Given the description of an element on the screen output the (x, y) to click on. 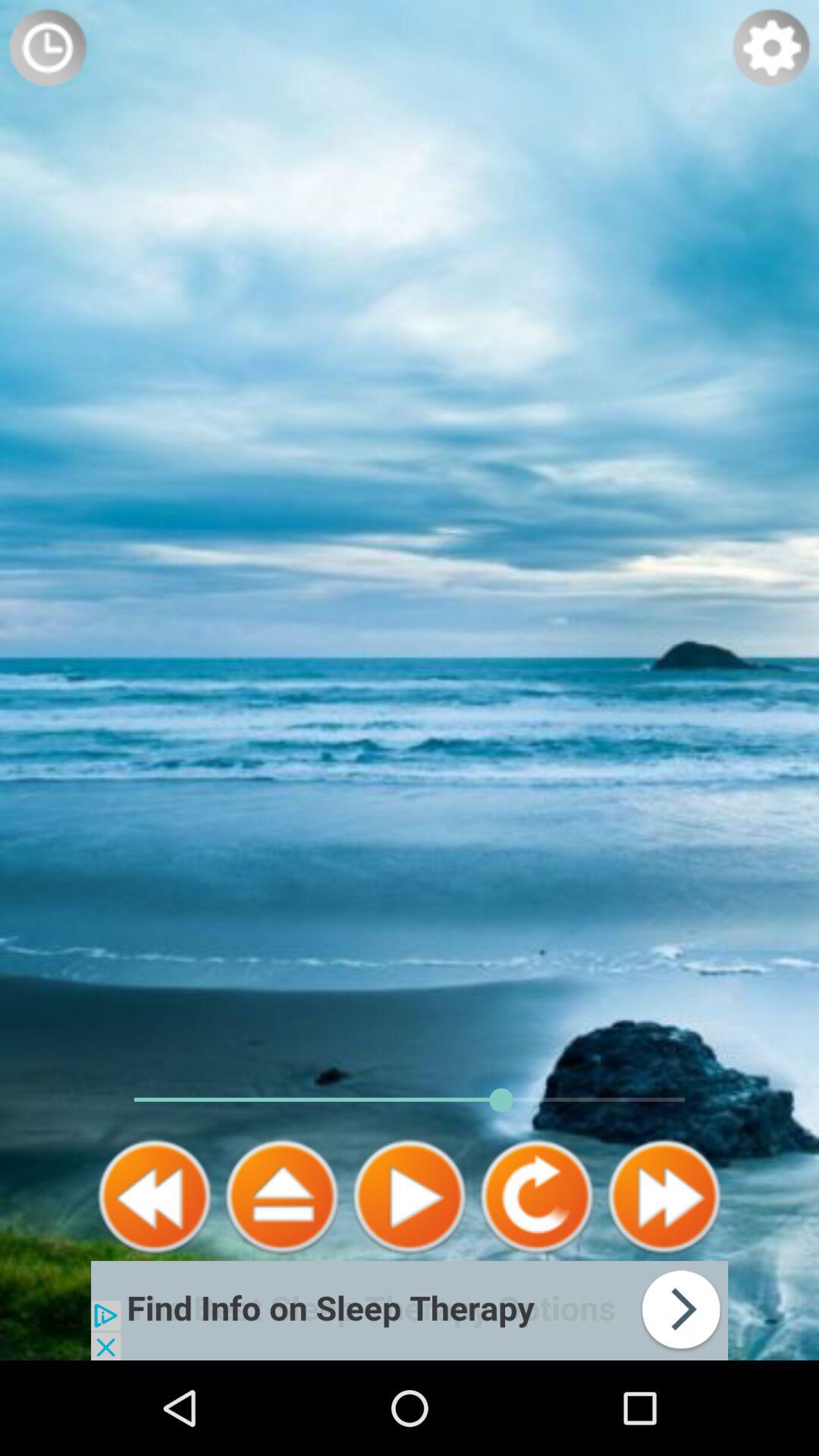
play button (409, 1196)
